Given the description of an element on the screen output the (x, y) to click on. 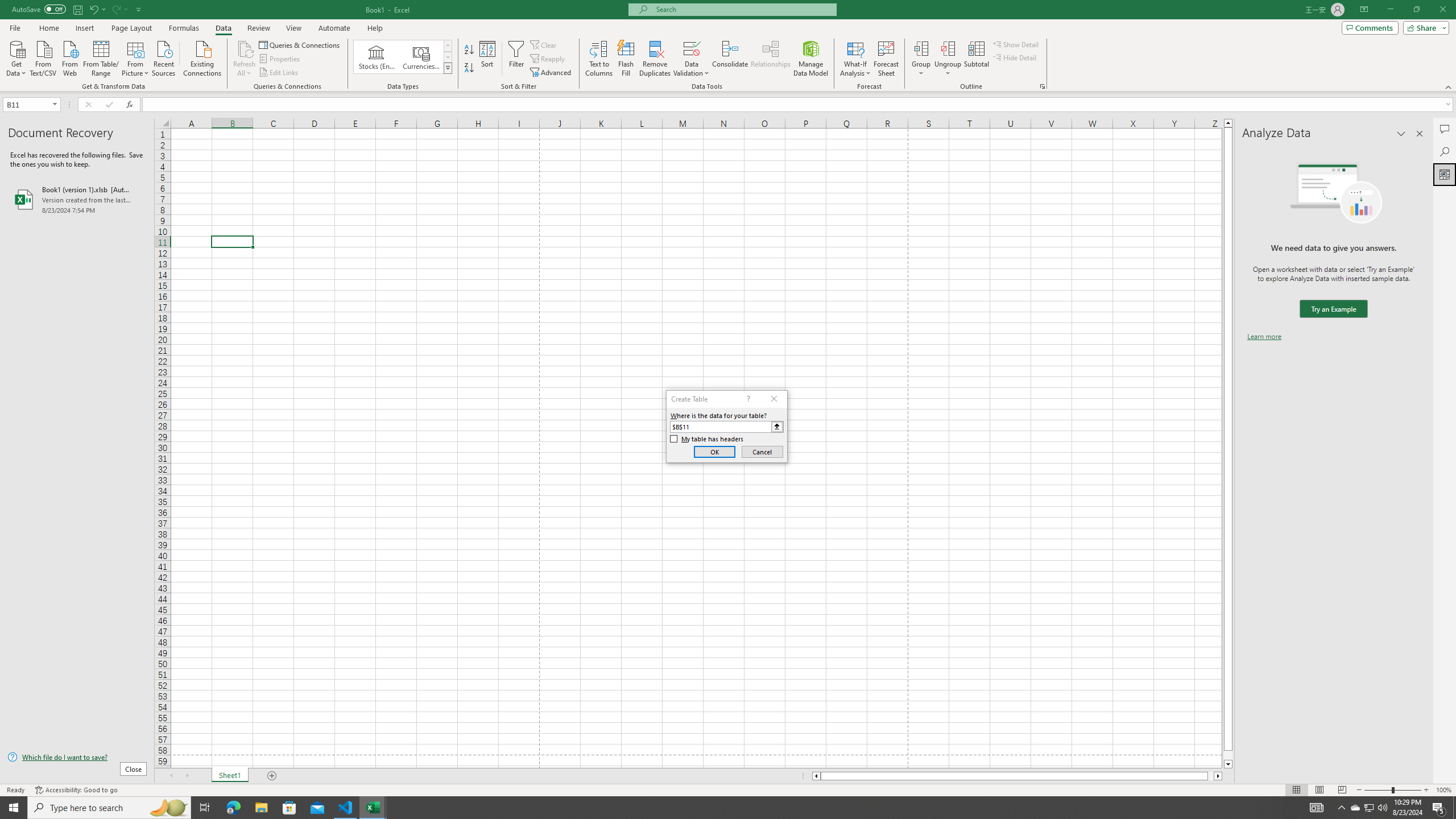
Sort Z to A (469, 67)
